Given the description of an element on the screen output the (x, y) to click on. 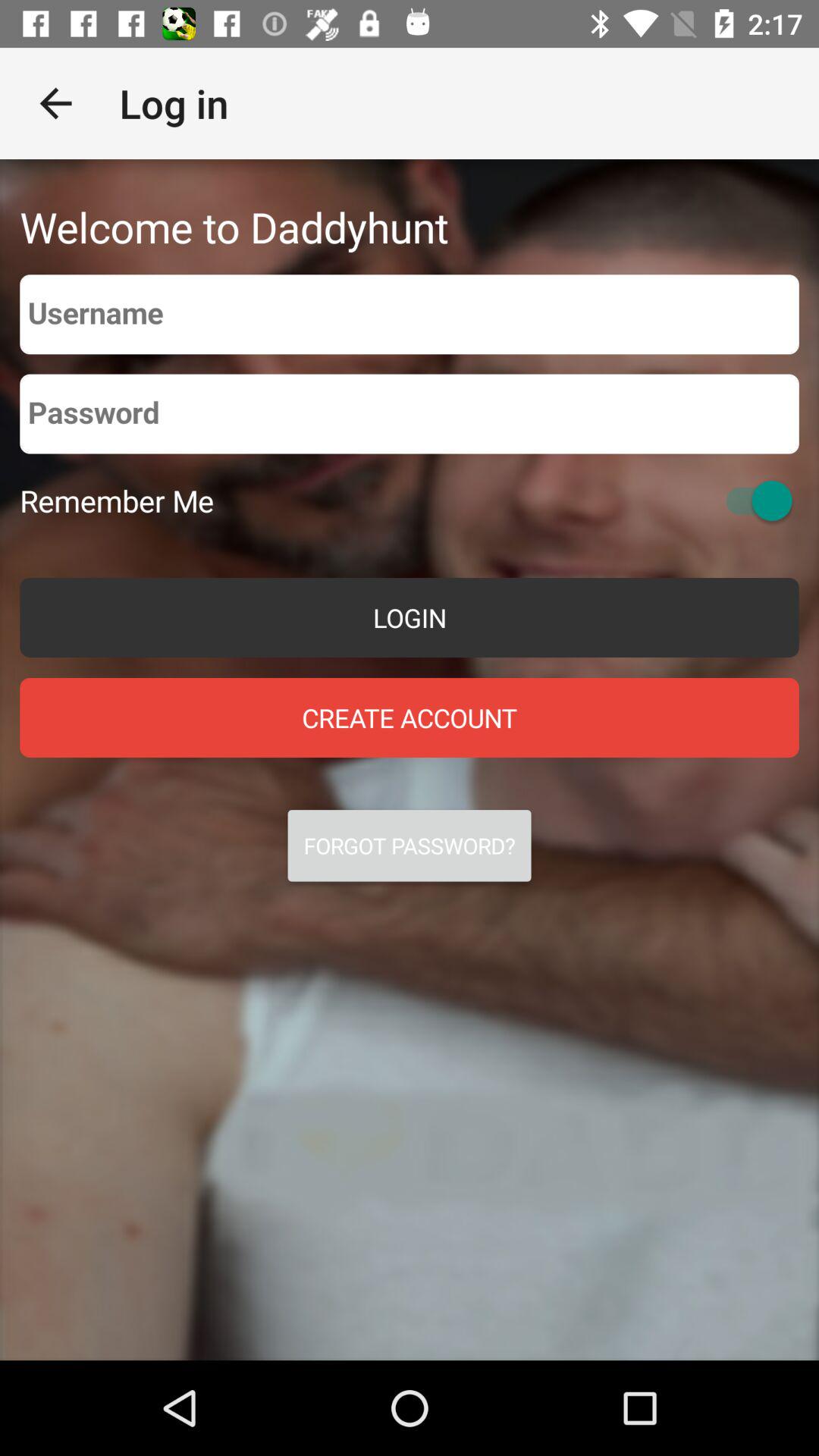
launch remember me icon (116, 500)
